Given the description of an element on the screen output the (x, y) to click on. 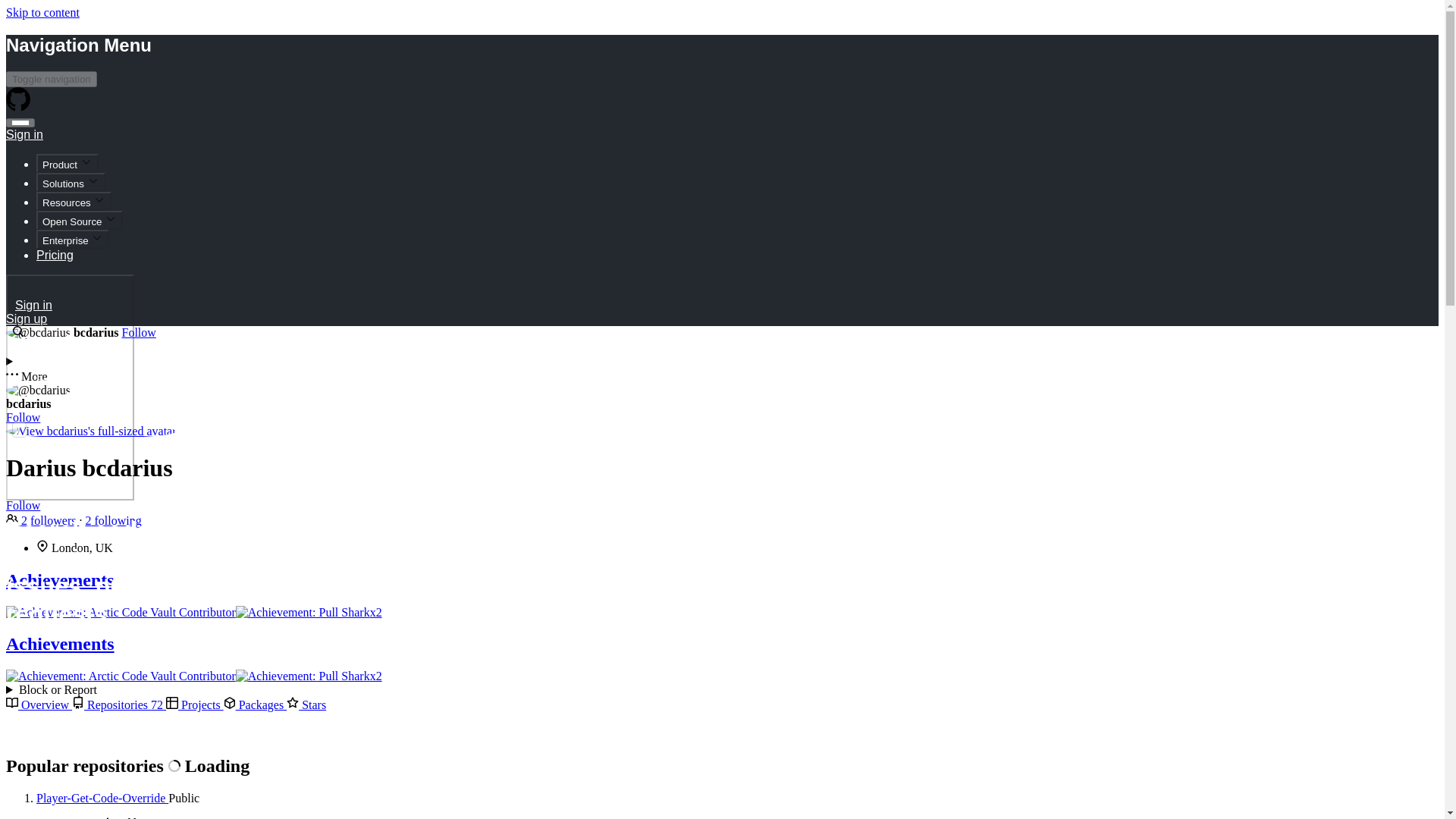
Product (67, 162)
Skip to content (42, 11)
Resources (74, 200)
Open Source (79, 220)
Toggle navigation (51, 78)
Solutions (70, 181)
Sign in (24, 132)
72 (157, 704)
